Given the description of an element on the screen output the (x, y) to click on. 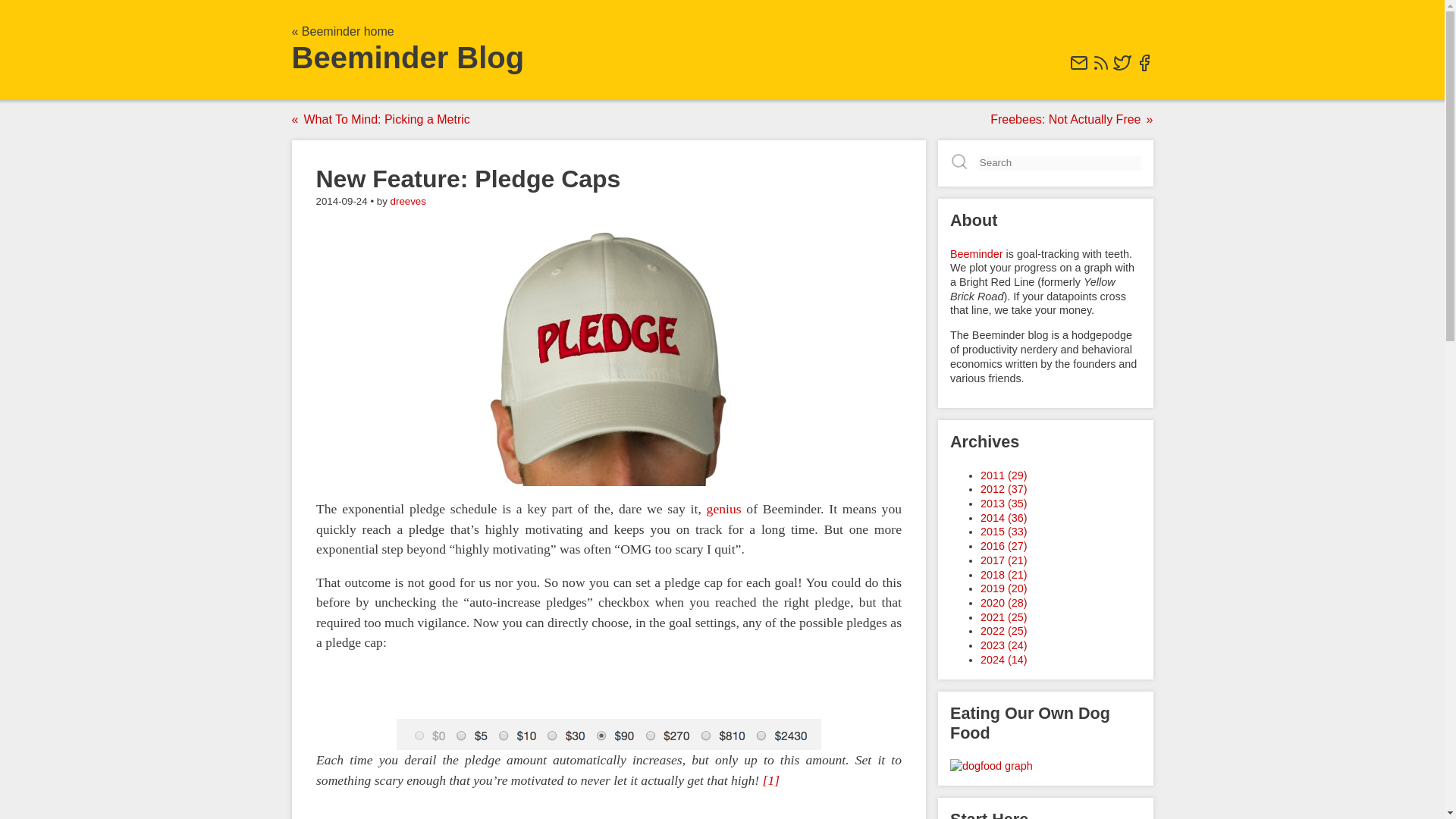
It's a homophone! Also a homograph. Or possibly a polyseme? (608, 357)
The reason we still have a blog (990, 766)
genius (723, 509)
Email Notifications (1078, 67)
dreeves (408, 201)
What To Mind: Picking a Metric (383, 119)
Follow us on Twitter (1122, 67)
Freebees: Not Actually Free (1068, 119)
Subscribe by RSS (1100, 67)
Beeminder (976, 253)
Follow us on Facebook (1143, 67)
Beeminder Blog (407, 57)
